Given the description of an element on the screen output the (x, y) to click on. 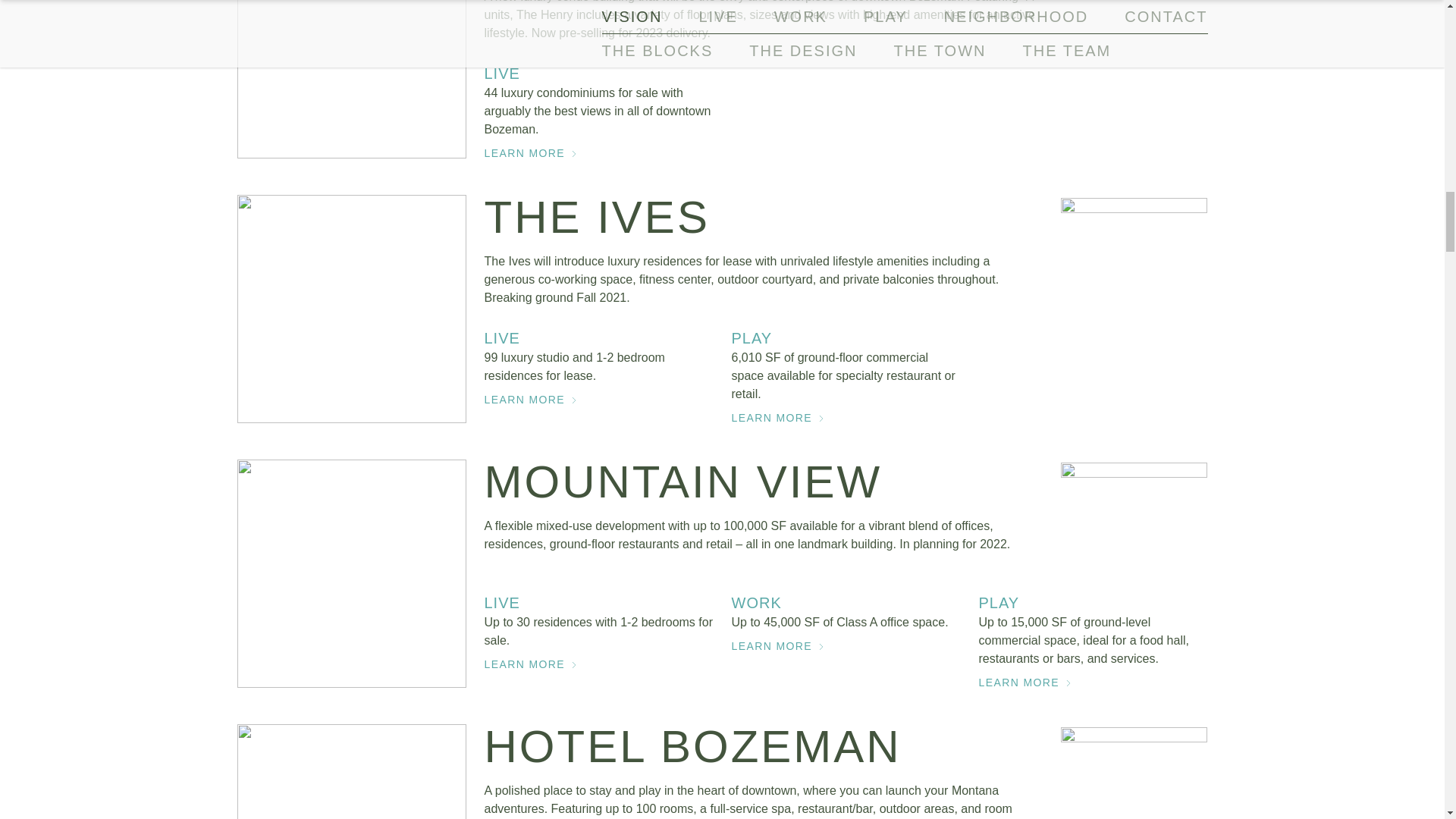
LEARN MORE (844, 417)
LEARN MORE (1092, 682)
LEARN MORE (598, 664)
LEARN MORE (598, 398)
LEARN MORE (844, 645)
LEARN MORE (598, 153)
